Given the description of an element on the screen output the (x, y) to click on. 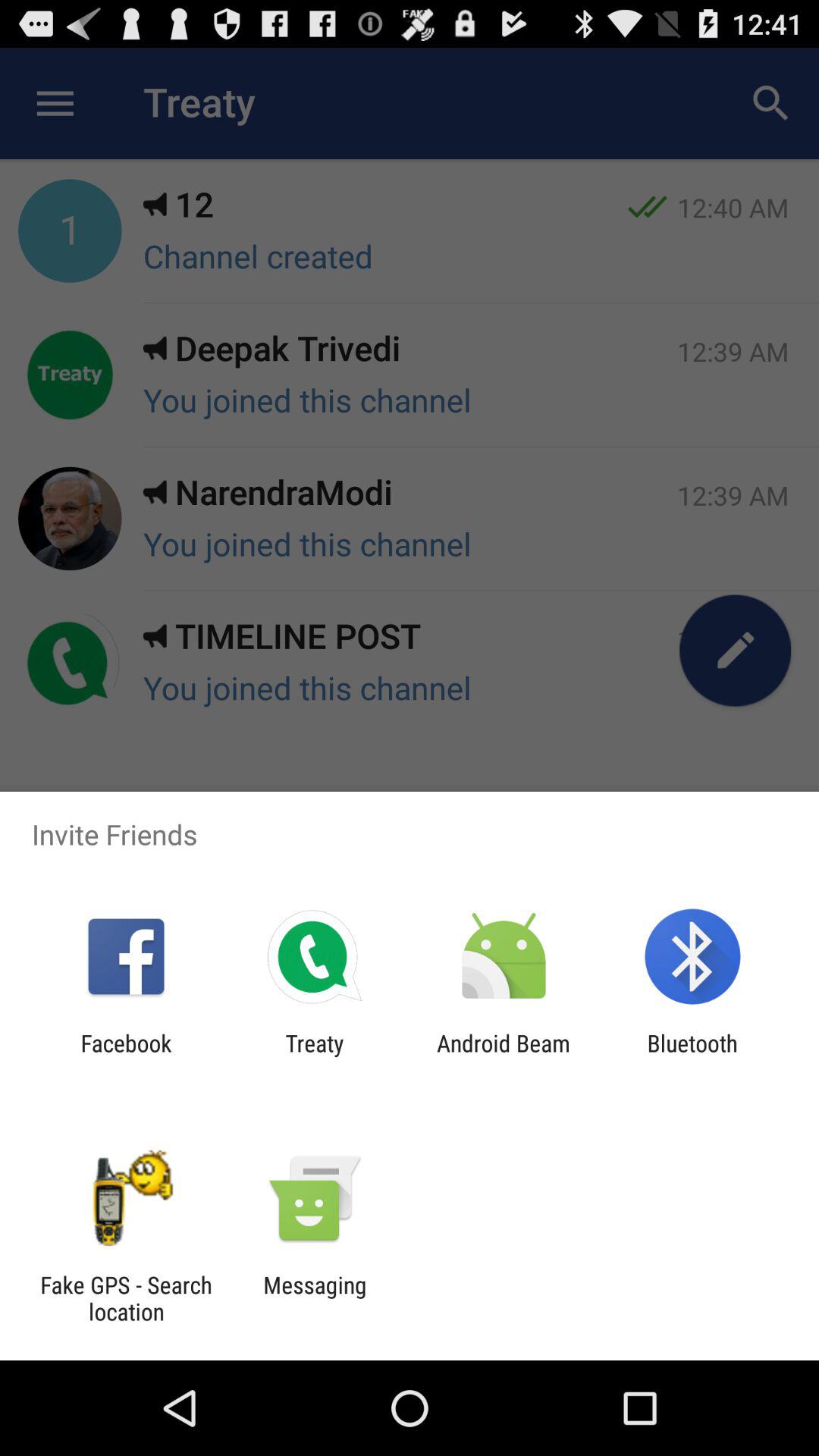
scroll to facebook item (125, 1056)
